Given the description of an element on the screen output the (x, y) to click on. 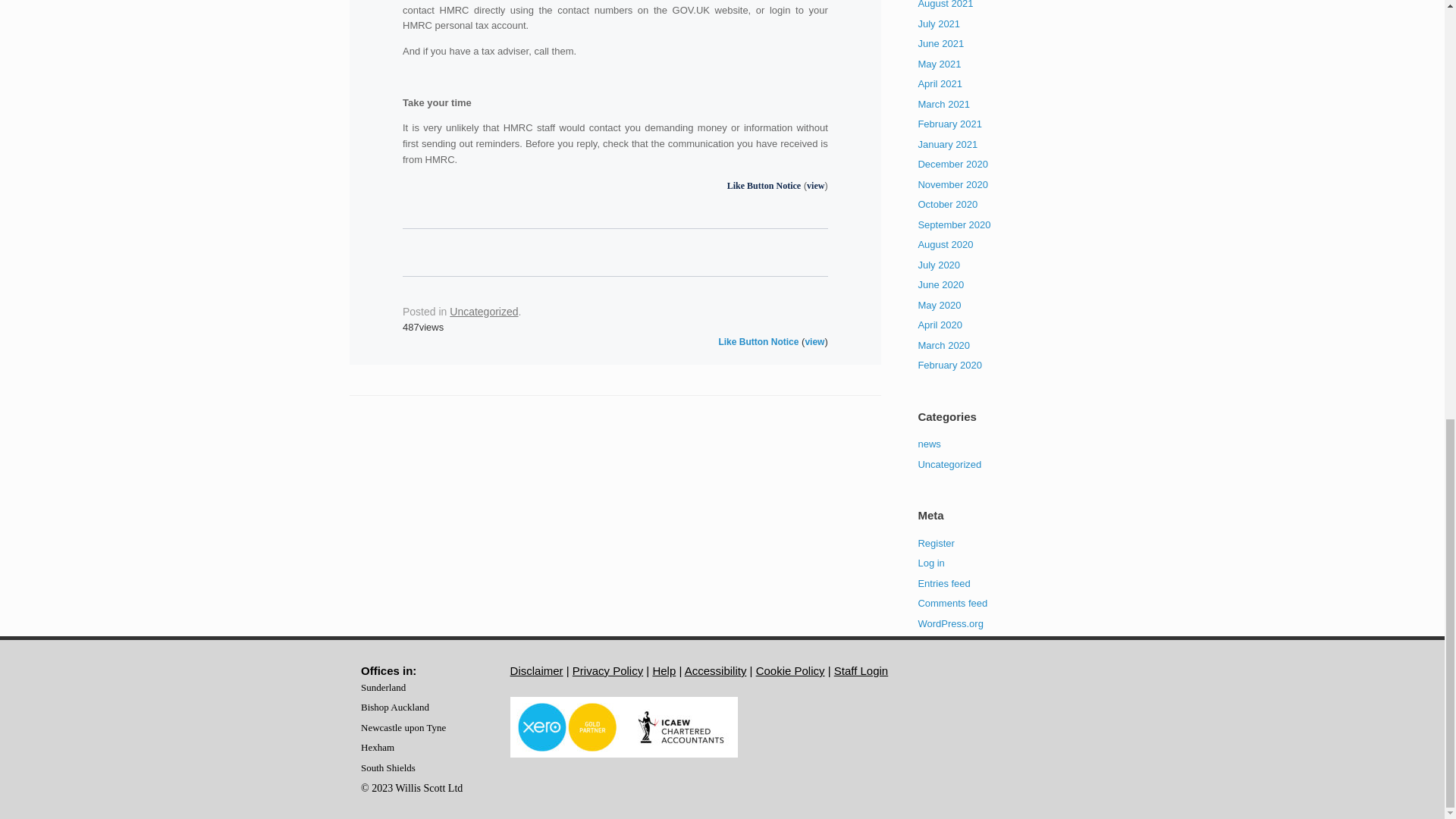
Like Button Notice (763, 185)
view (815, 185)
Click to view notice (814, 341)
Click to view notice (815, 185)
